Given the description of an element on the screen output the (x, y) to click on. 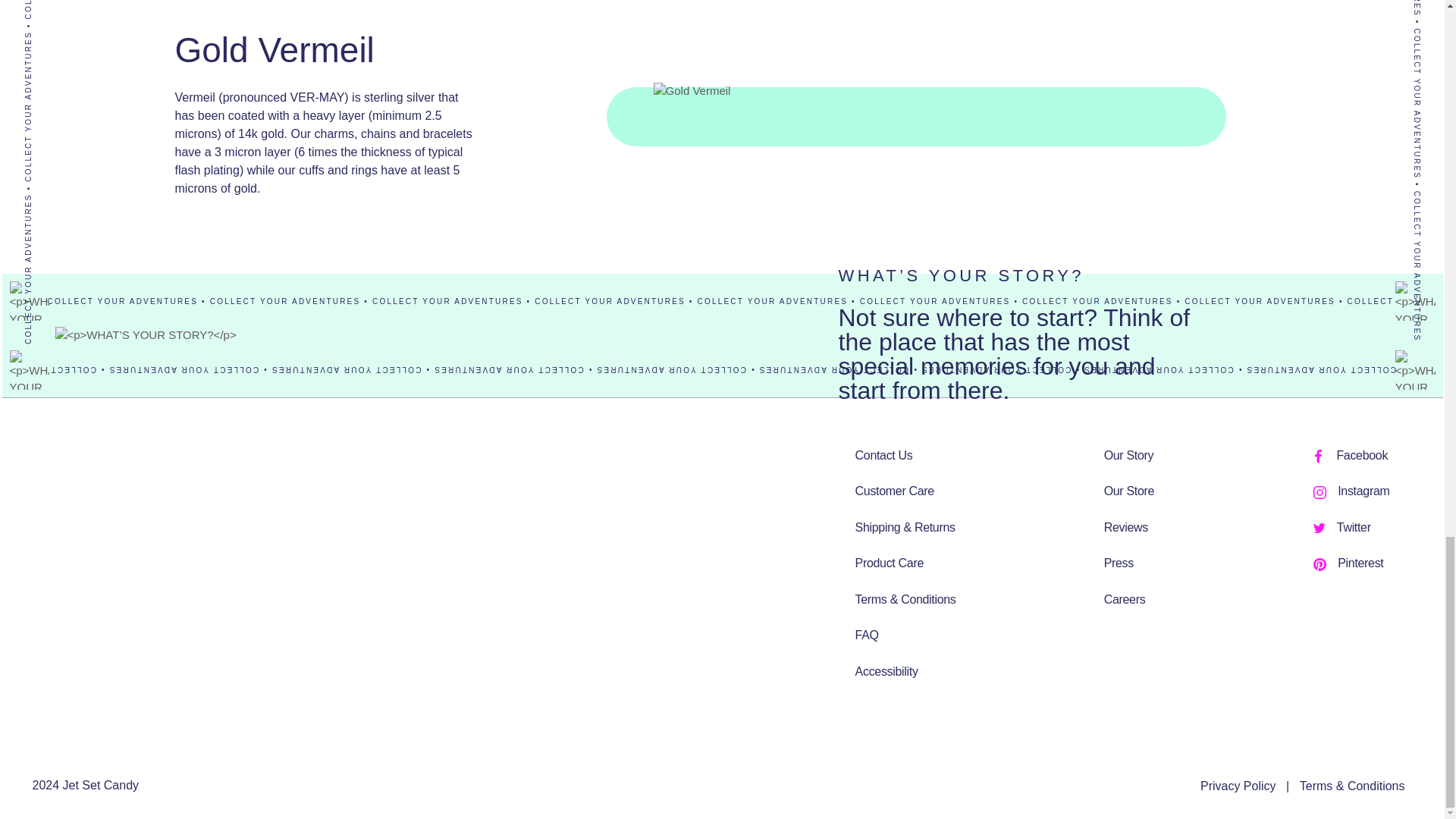
Twitter (1318, 528)
Instagram (1319, 492)
Pinterest (1319, 563)
